Given the description of an element on the screen output the (x, y) to click on. 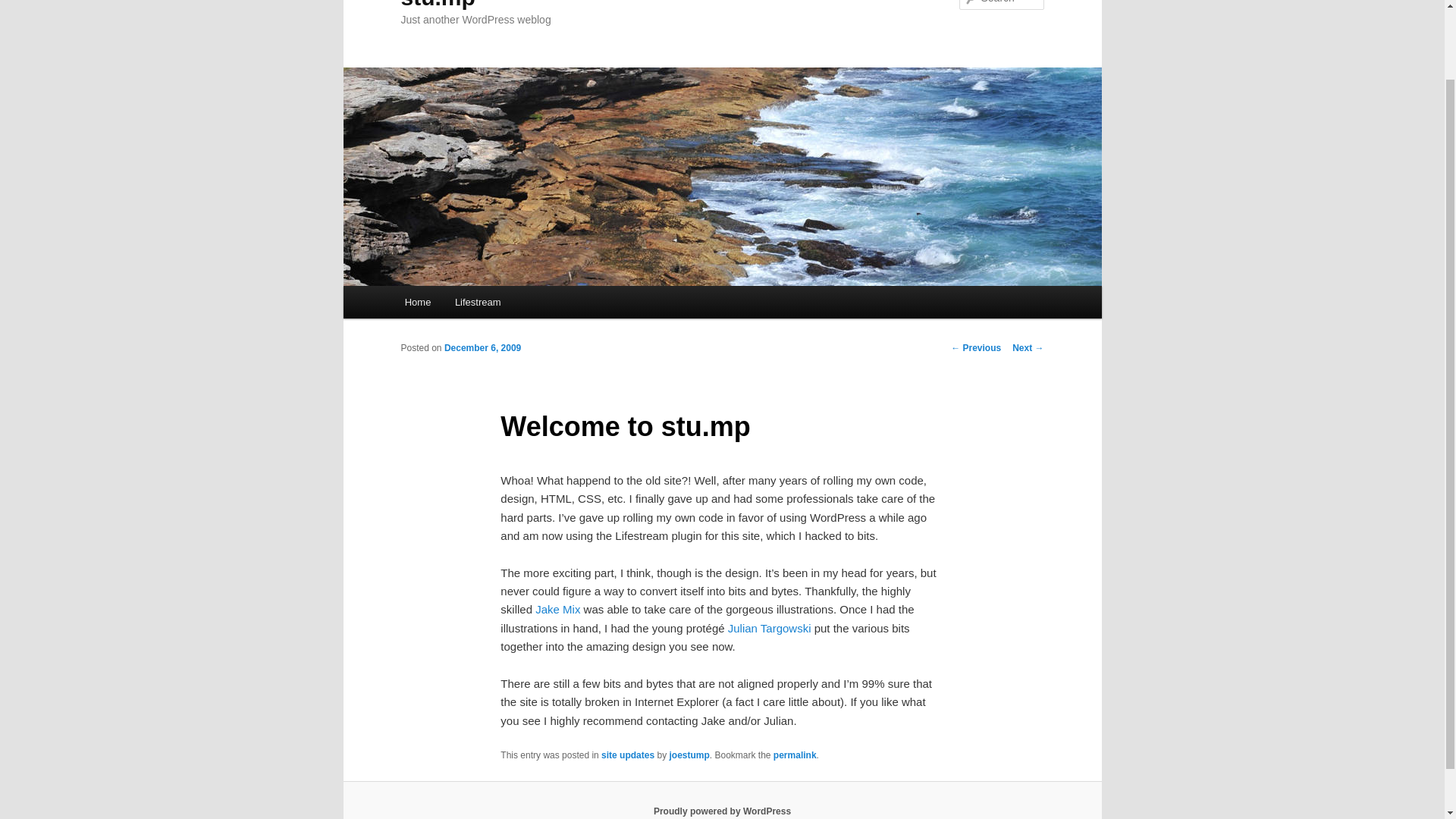
Semantic Personal Publishing Platform (721, 810)
Permalink to Welcome to stu.mp (794, 755)
site updates (627, 755)
Jake Mix (557, 608)
Julian Targowski (769, 627)
10:56 pm (482, 347)
December 6, 2009 (482, 347)
Proudly powered by WordPress (721, 810)
stu.mp (437, 4)
joestump (688, 755)
